Given the description of an element on the screen output the (x, y) to click on. 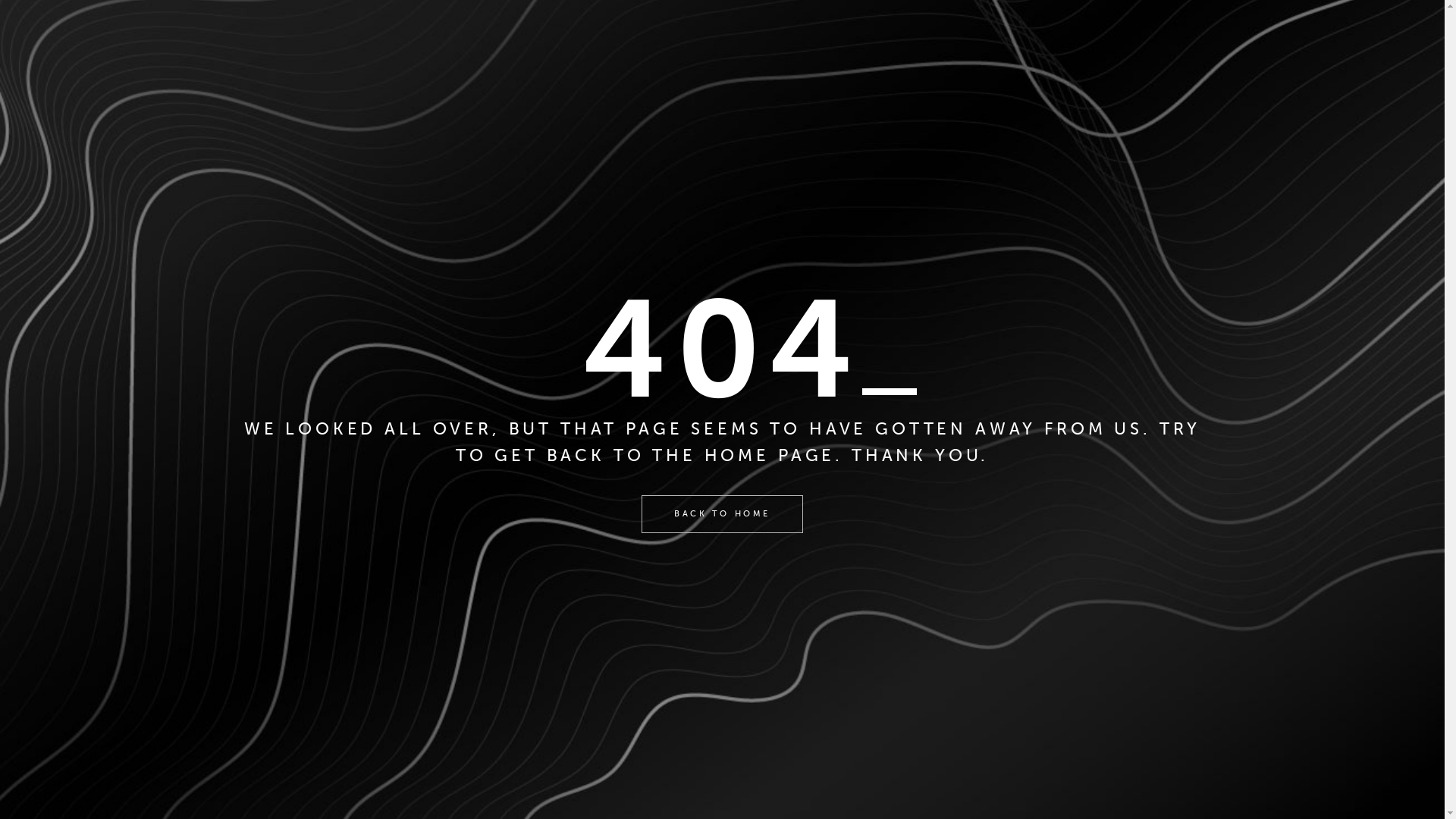
BACK TO HOME Element type: text (721, 514)
